Given the description of an element on the screen output the (x, y) to click on. 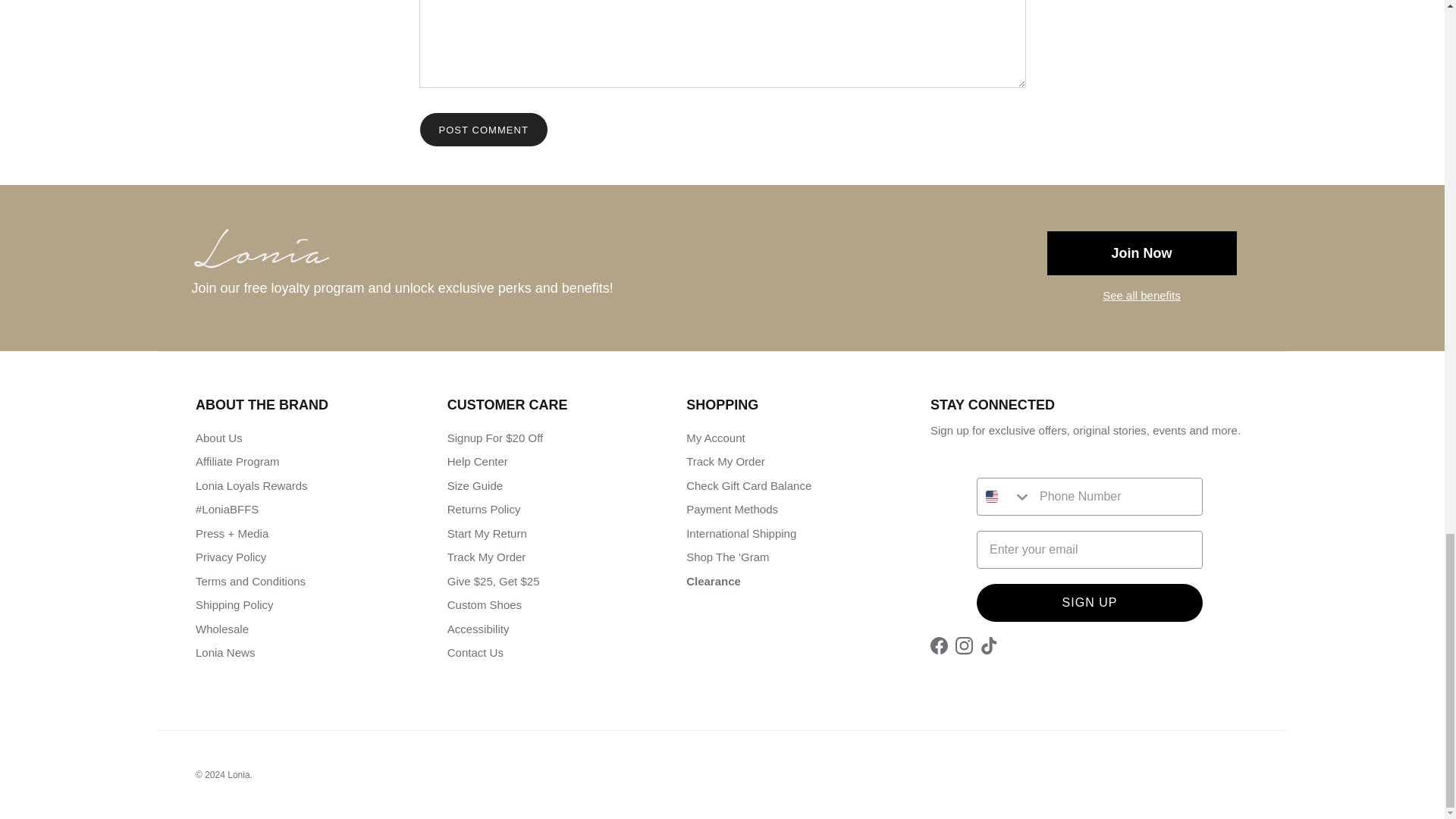
Lonia on Instagram (963, 645)
United States (991, 496)
Lonia on TikTok (988, 645)
Lonia on Facebook (938, 645)
